Given the description of an element on the screen output the (x, y) to click on. 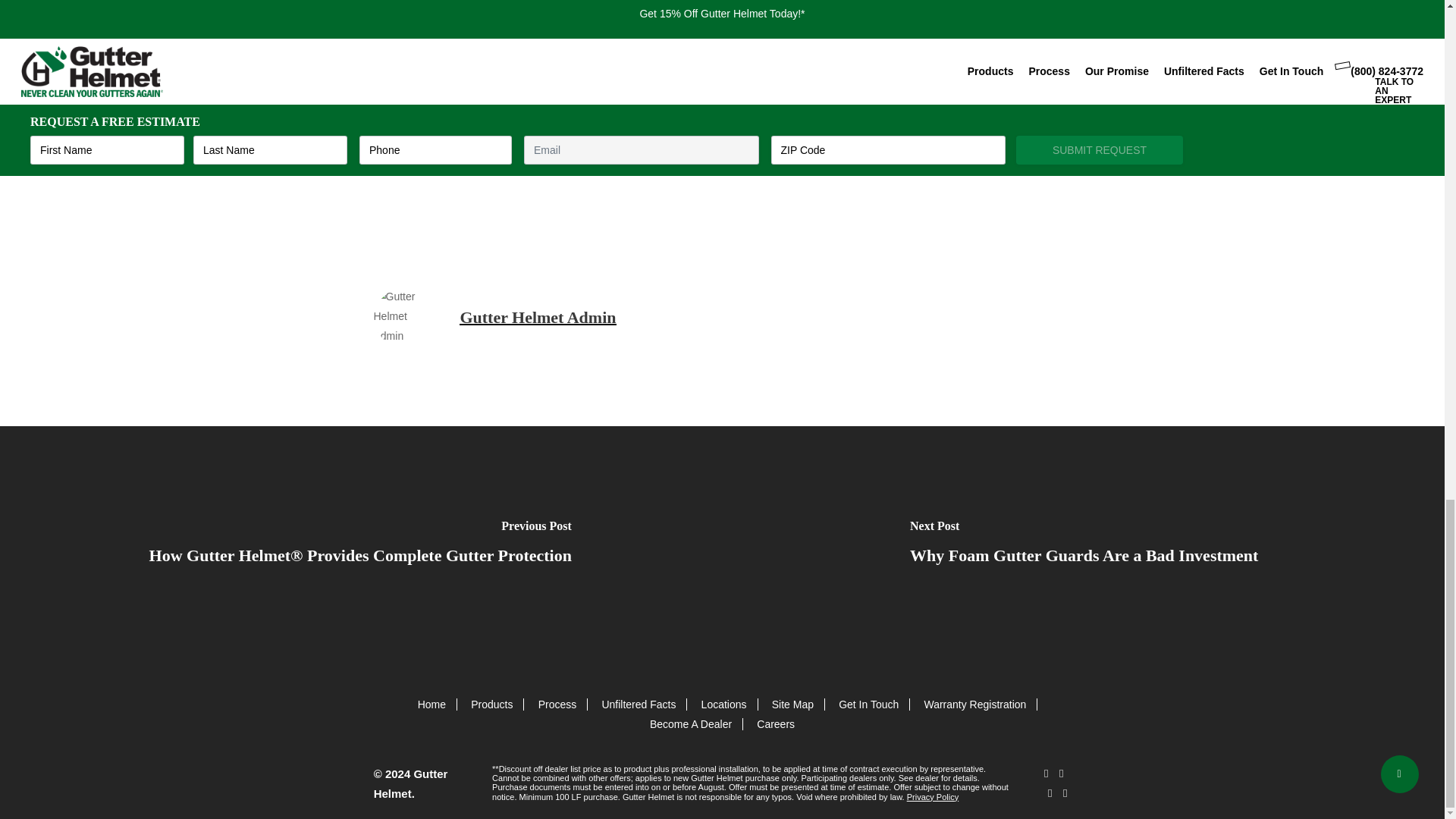
Careers (775, 724)
Process (557, 704)
Privacy Policy (932, 796)
Locations (723, 704)
Get In Touch (868, 704)
Warranty Registration (974, 704)
Home (431, 704)
Gutter Helmet Admin (537, 316)
gutter protection products (833, 137)
Products (491, 704)
Site Map (792, 704)
Unfiltered Facts (638, 704)
Become A Dealer (690, 724)
